Given the description of an element on the screen output the (x, y) to click on. 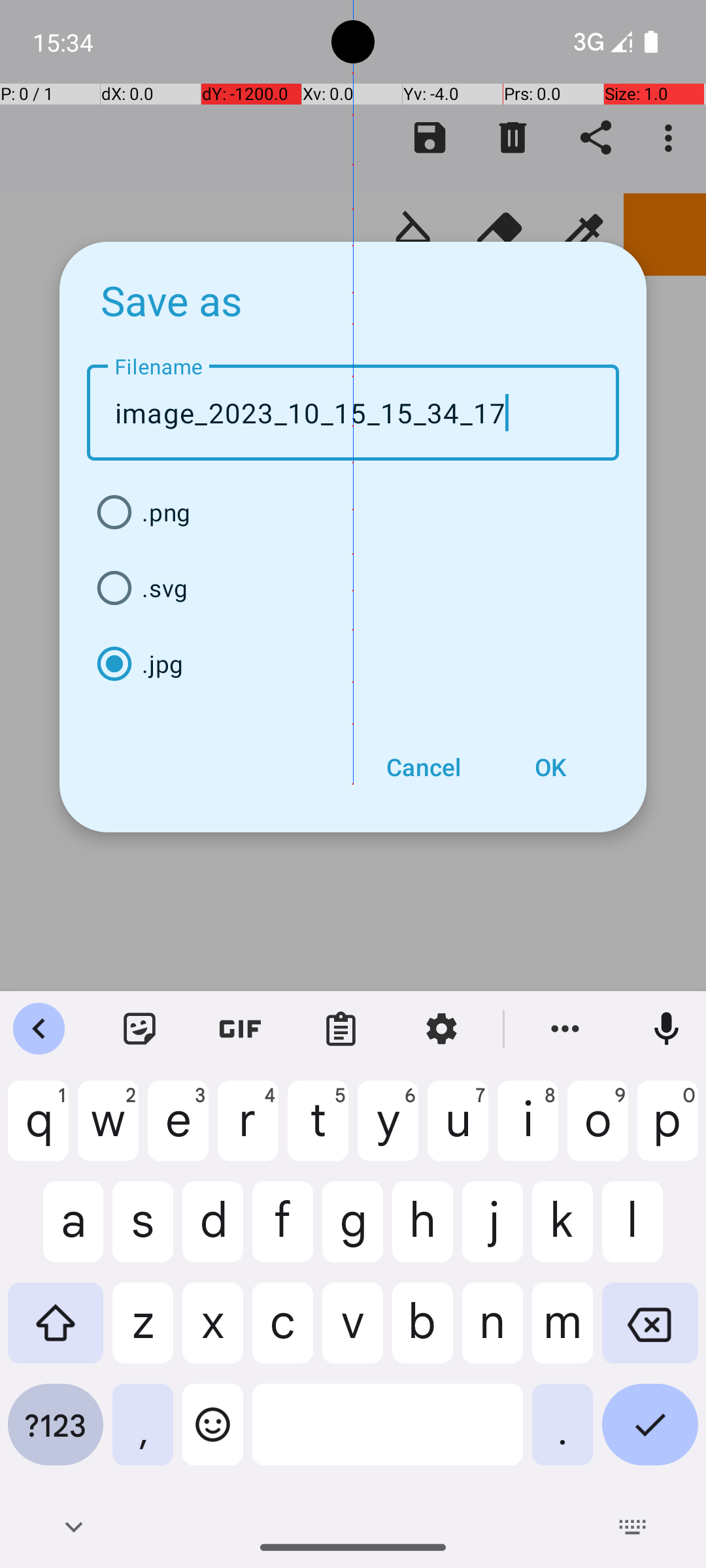
Save as Element type: android.widget.TextView (171, 299)
image_2023_10_15_15_34_17 Element type: android.widget.EditText (352, 412)
.png Element type: android.widget.RadioButton (352, 512)
.svg Element type: android.widget.RadioButton (352, 587)
.jpg Element type: android.widget.RadioButton (352, 663)
